Given the description of an element on the screen output the (x, y) to click on. 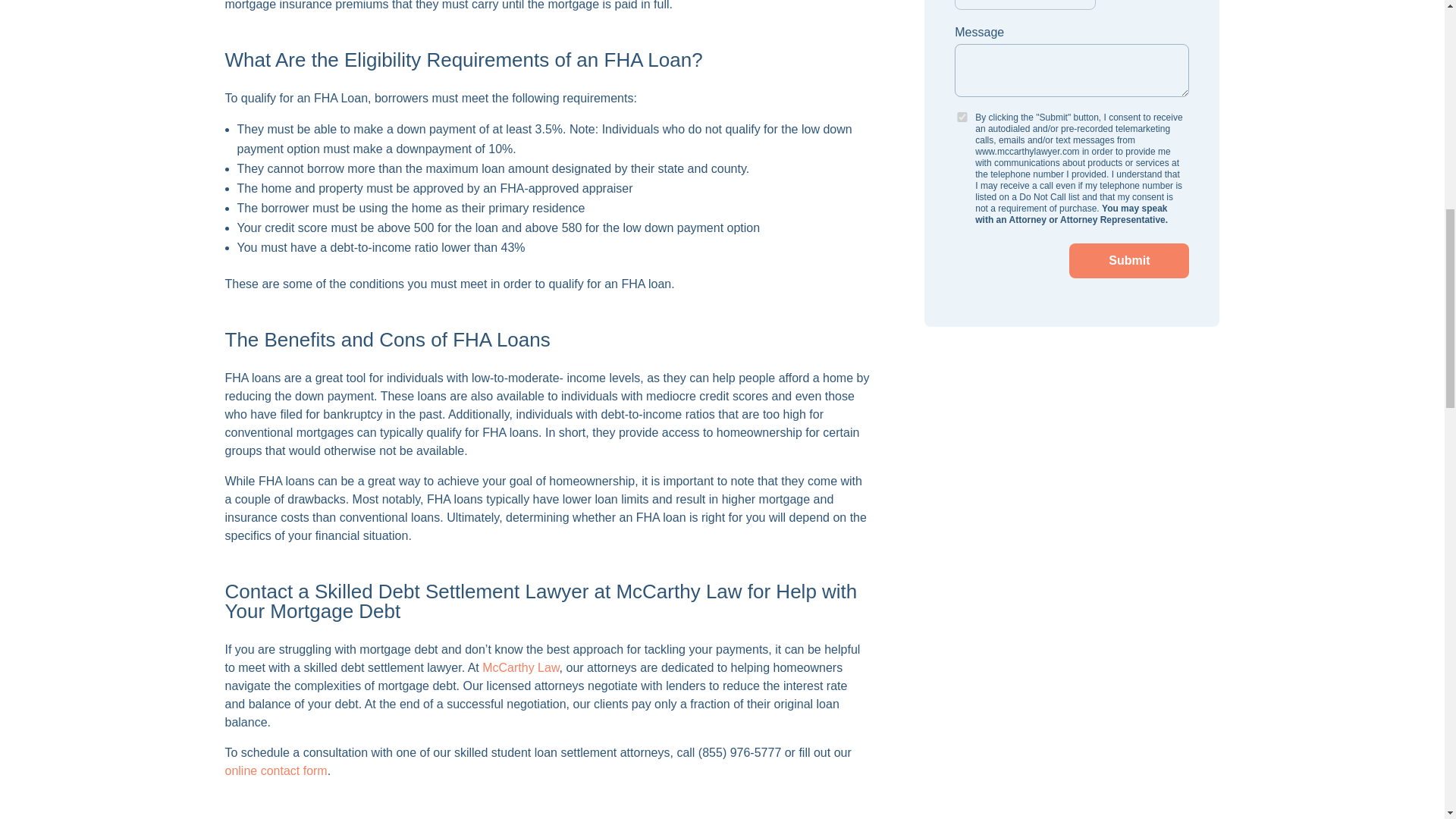
online contact form (275, 770)
McCarthy Law (520, 667)
Submit (1128, 260)
